Given the description of an element on the screen output the (x, y) to click on. 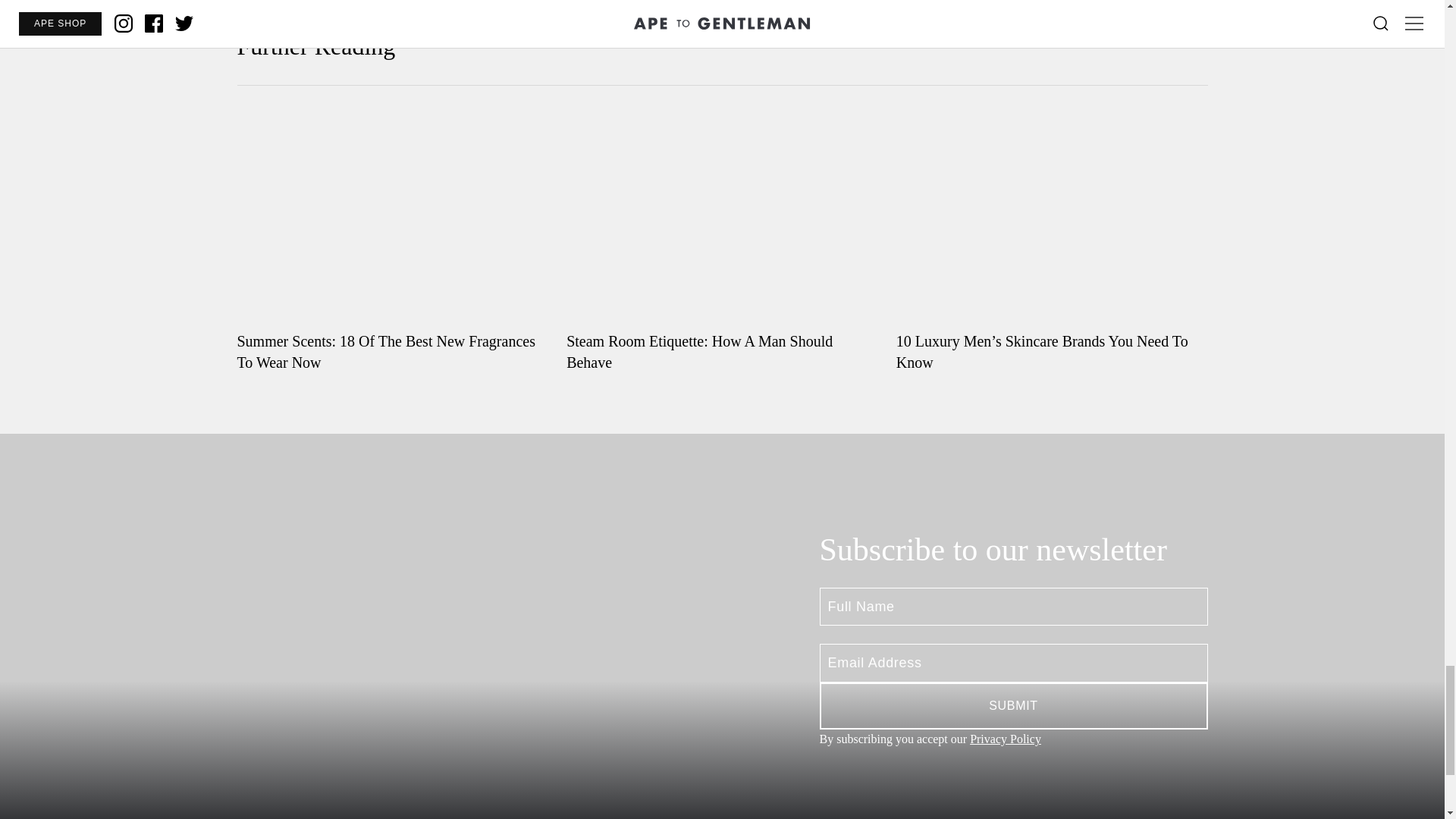
Submit (1012, 705)
Steam Room Etiquette: How A Man Should Behave (721, 241)
Summer Scents: 18 Of The Best New Fragrances To Wear Now (391, 241)
